Given the description of an element on the screen output the (x, y) to click on. 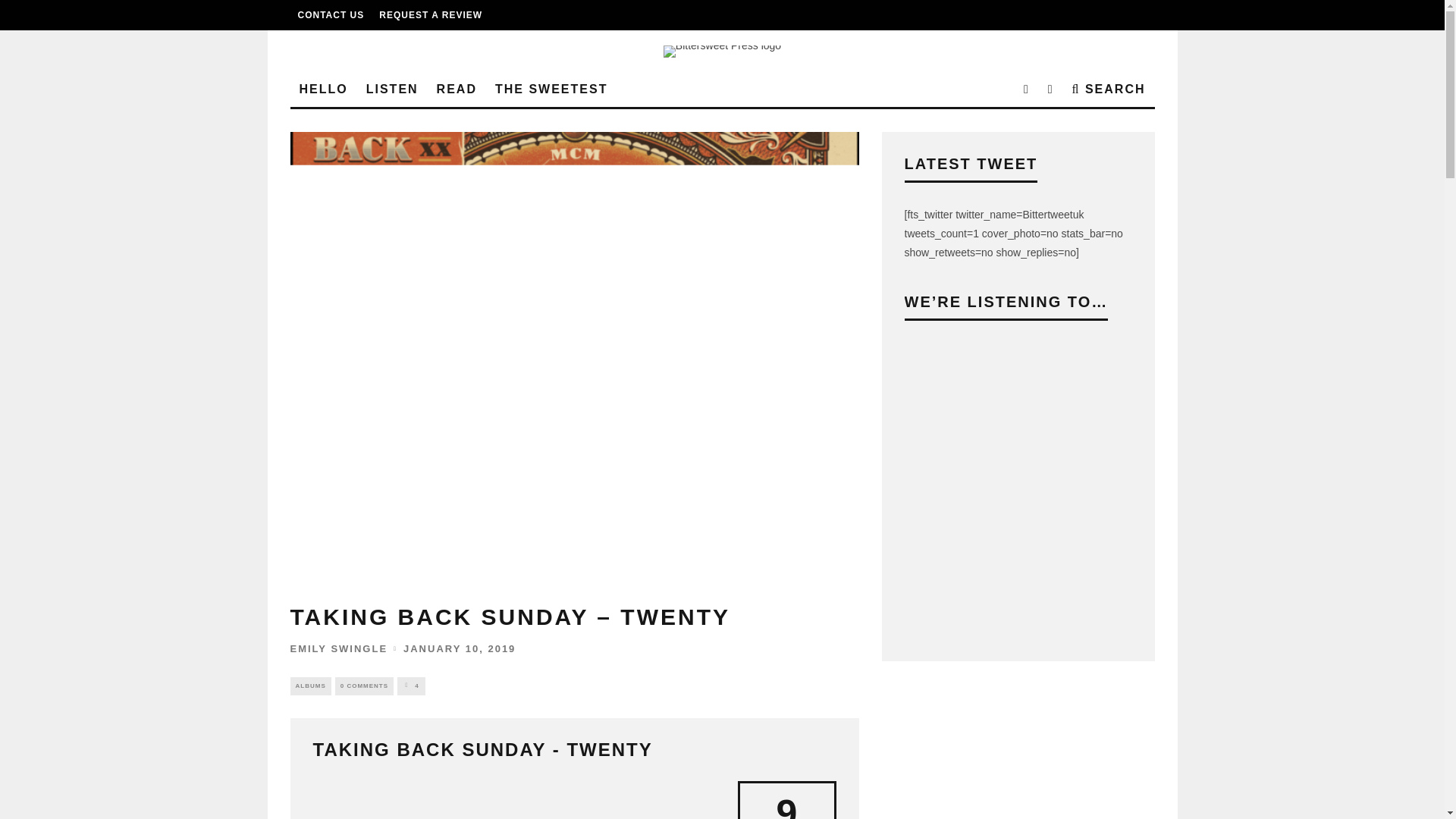
HELLO (322, 89)
Posts by Emily Swingle (338, 648)
Search (1108, 89)
View all posts in Albums (309, 686)
CONTACT US (330, 15)
REQUEST A REVIEW (429, 15)
READ (457, 89)
SEARCH (1108, 89)
0 COMMENTS (363, 686)
LISTEN (392, 89)
ALBUMS (309, 686)
THE SWEETEST (550, 89)
EMILY SWINGLE (338, 648)
